Given the description of an element on the screen output the (x, y) to click on. 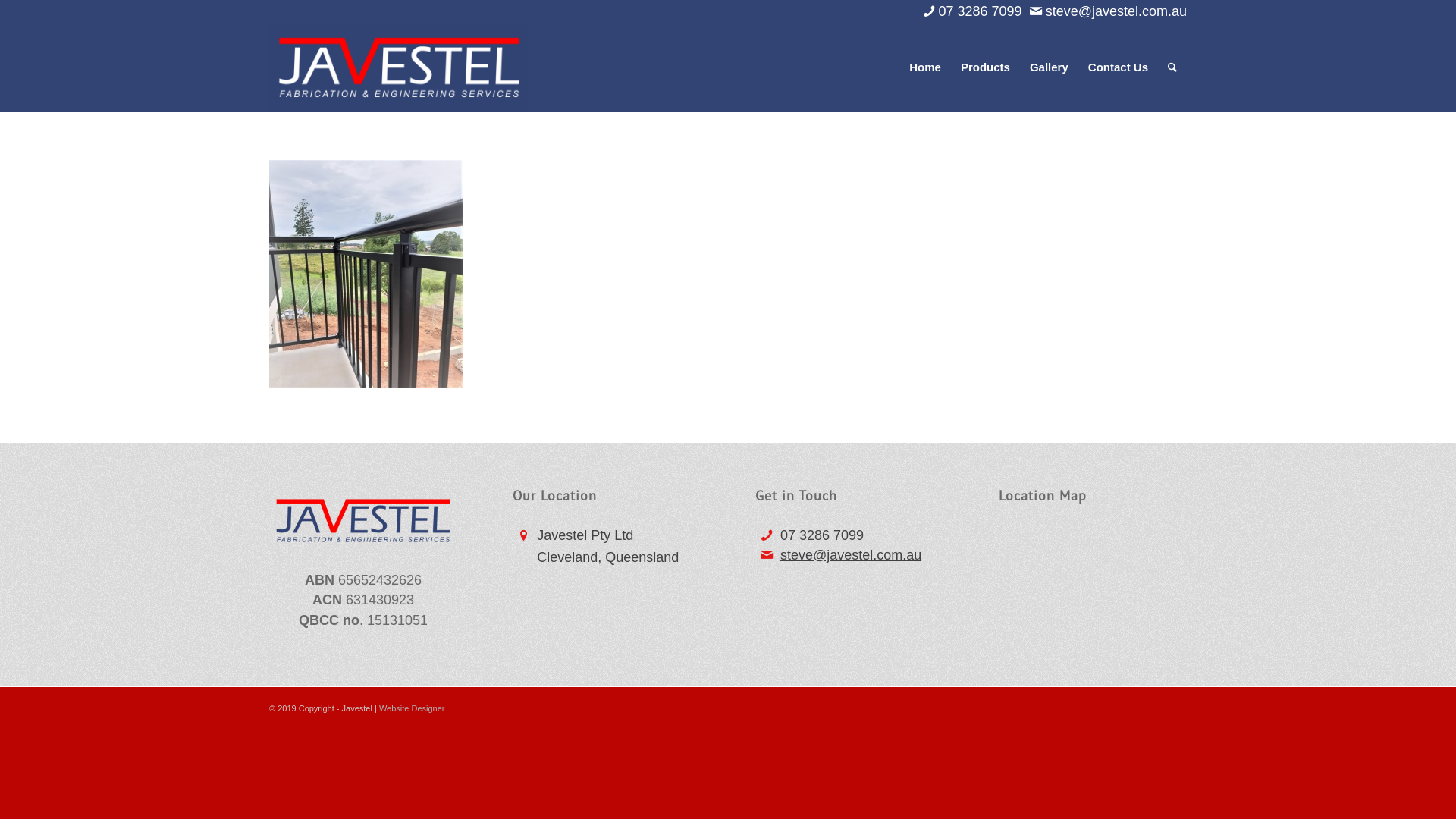
steve@javestel.com.au Element type: text (850, 554)
steve@javestel.com.au Element type: text (1115, 10)
Website Designer Element type: text (412, 707)
Gallery Element type: text (1048, 67)
Products Element type: text (984, 67)
07 3286 7099 Element type: text (981, 10)
Contact Us Element type: text (1117, 67)
07 3286 7099 Element type: text (821, 534)
Home Element type: text (924, 67)
